Given the description of an element on the screen output the (x, y) to click on. 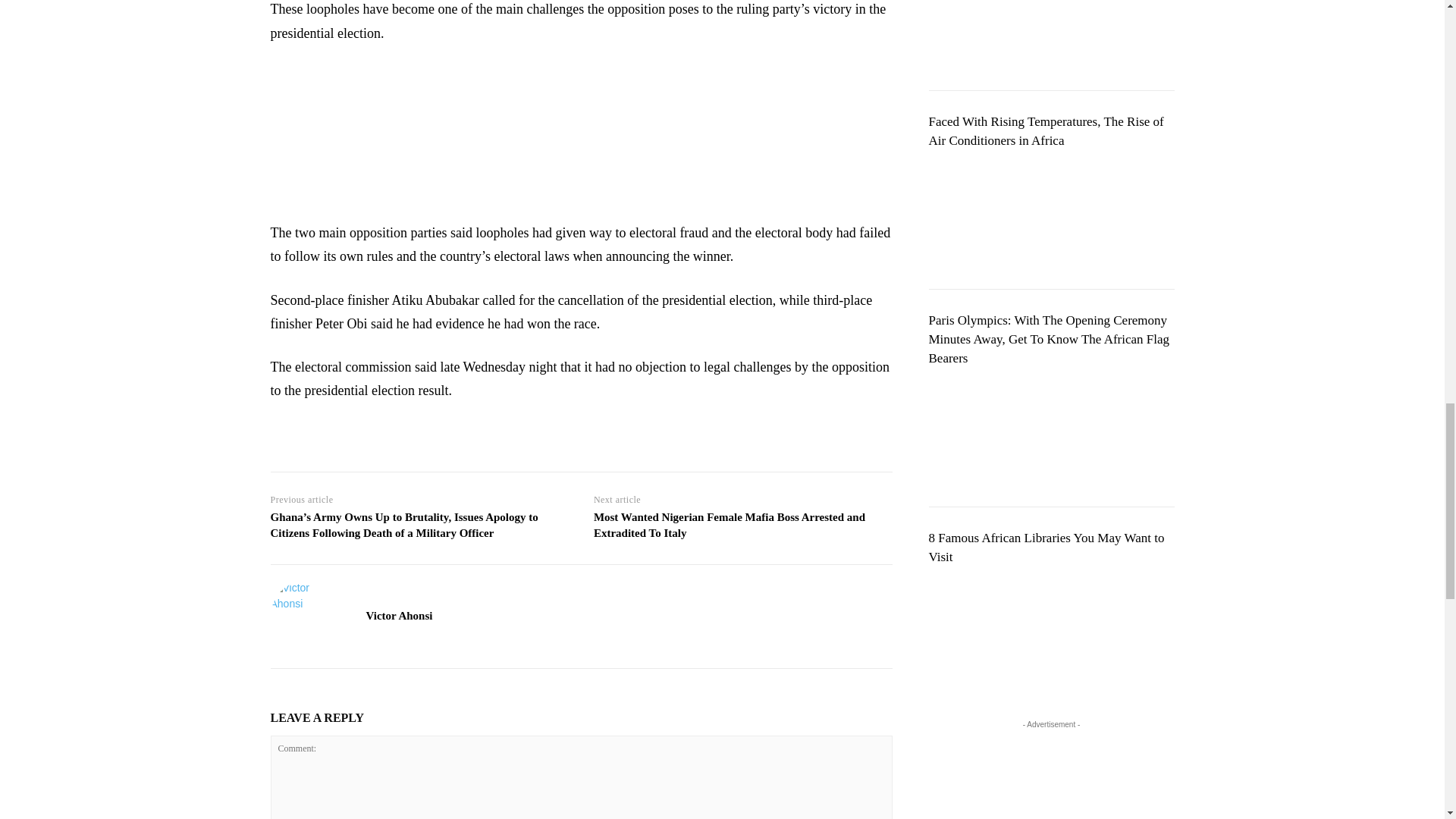
Victor Ahonsi (305, 615)
